Given the description of an element on the screen output the (x, y) to click on. 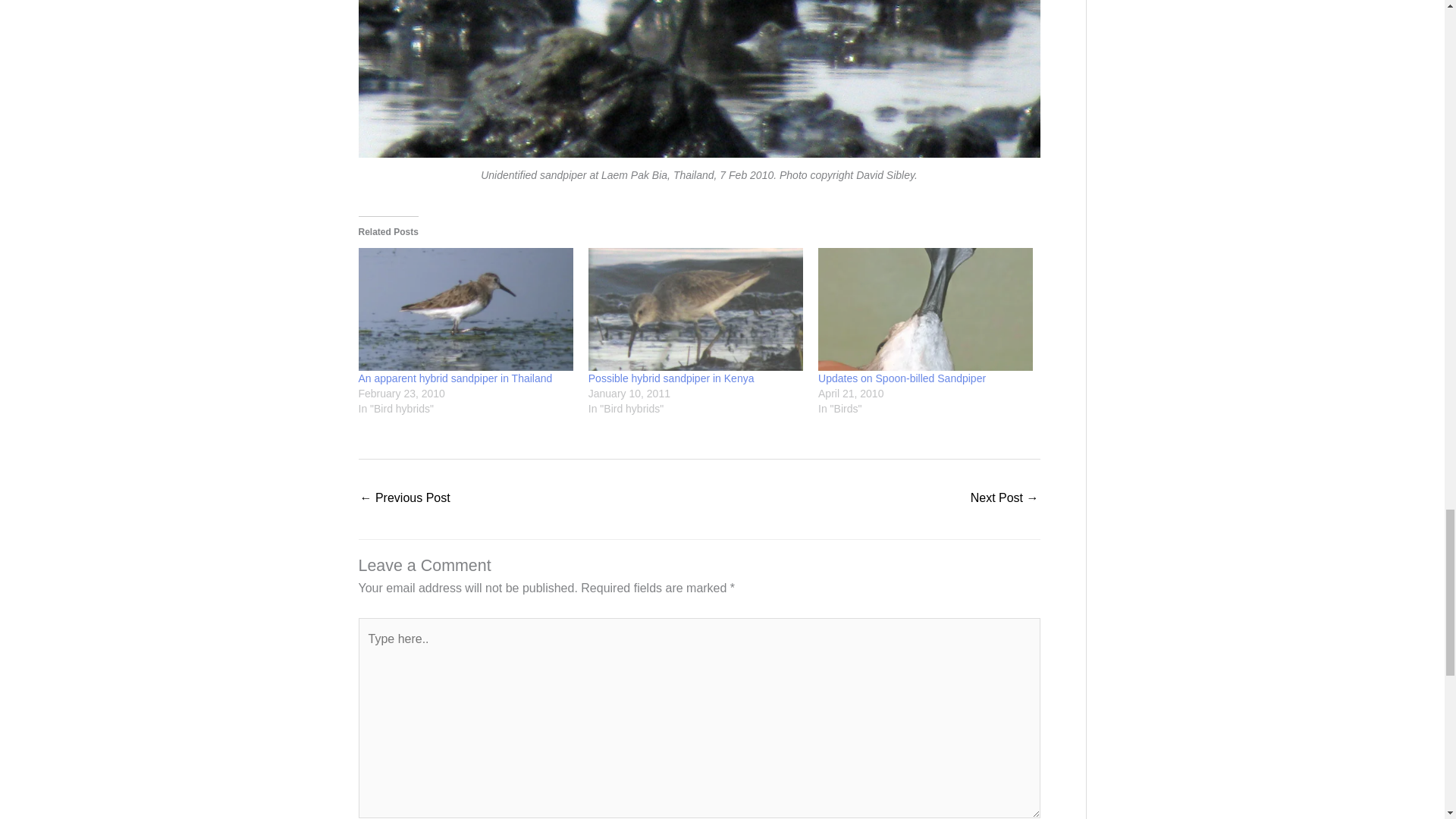
Updates on Spoon-billed Sandpiper (901, 378)
Why is Spoon-billed Sandpiper disappearing? (1005, 499)
An apparent hybrid sandpiper in Thailand (404, 499)
An apparent hybrid sandpiper in Thailand (454, 378)
Possible hybrid sandpiper in Kenya (695, 309)
Possible hybrid sandpiper in Kenya (671, 378)
Updates on Spoon-billed Sandpiper (925, 309)
An apparent hybrid sandpiper in Thailand (465, 309)
Possible hybrid sandpiper in Kenya (671, 378)
Updates on Spoon-billed Sandpiper (901, 378)
An apparent hybrid sandpiper in Thailand (454, 378)
